Given the description of an element on the screen output the (x, y) to click on. 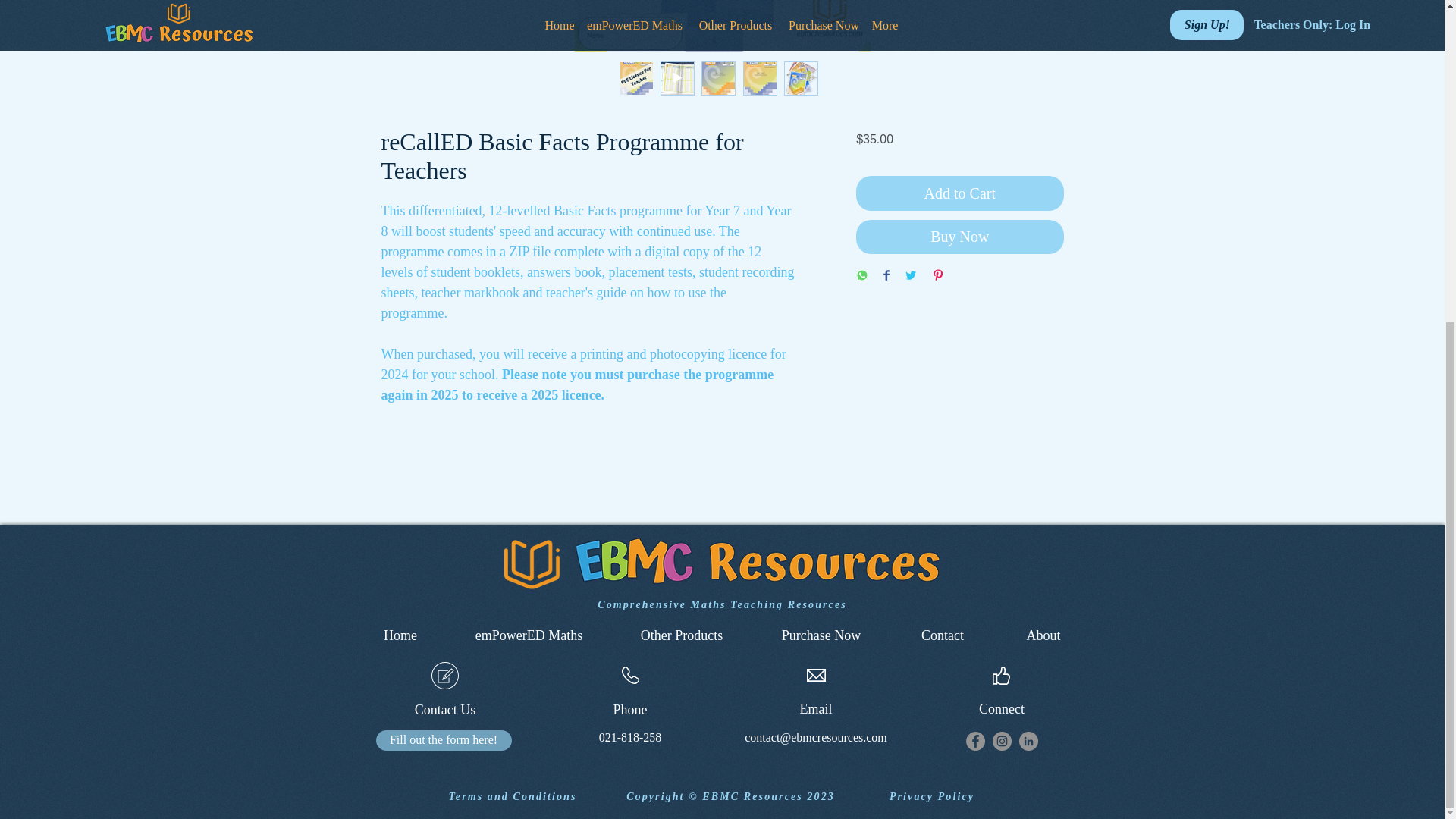
Home (400, 635)
Add to Cart (959, 193)
Other Products (681, 635)
Buy Now (959, 236)
emPowerED Maths (529, 635)
